Given the description of an element on the screen output the (x, y) to click on. 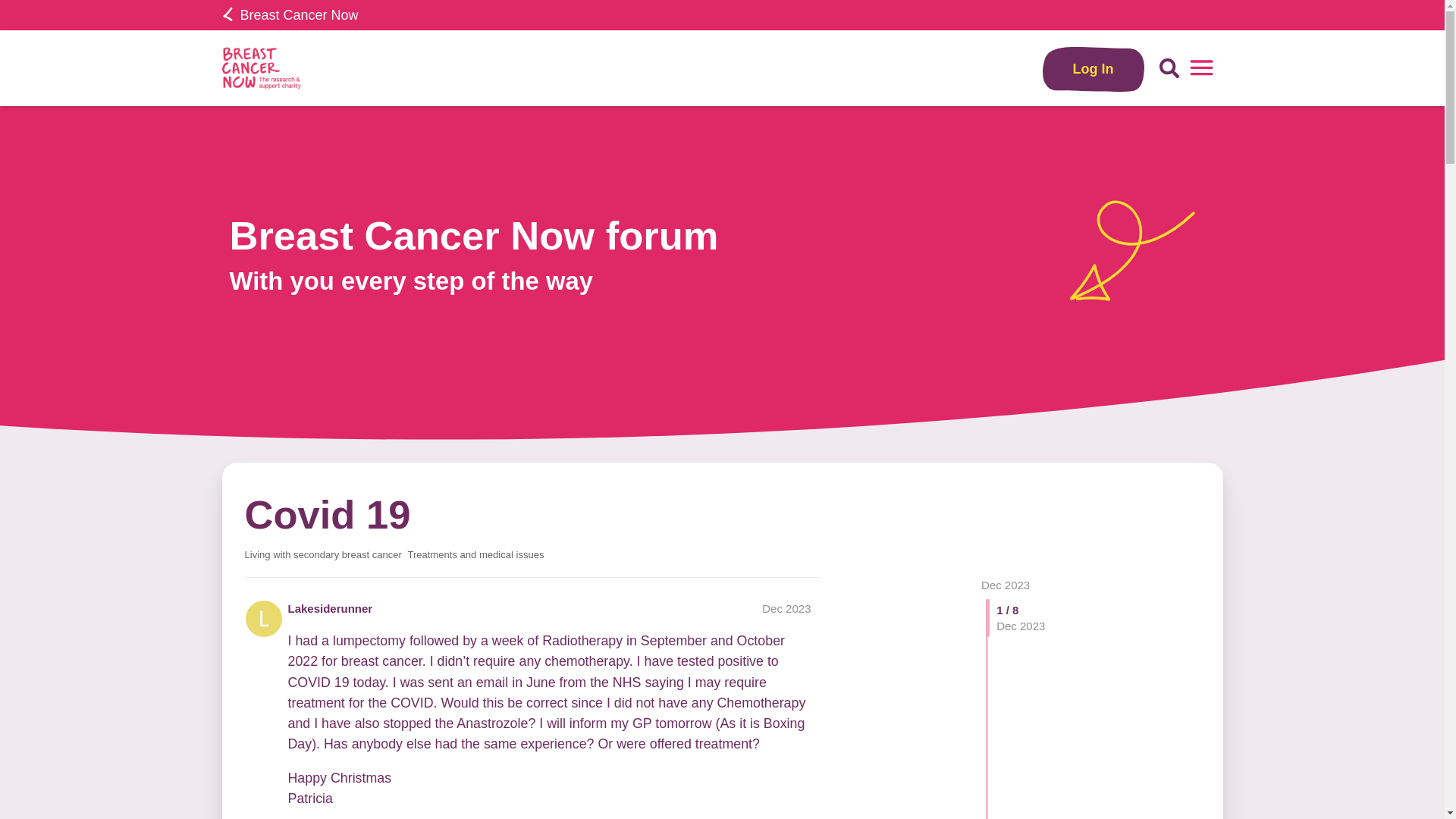
Dec 2023 (1005, 584)
Breast Cancer Now (289, 15)
Dec 2023 (785, 608)
Treatments and medical issues (475, 554)
Lakesiderunner (330, 608)
Covid 19 (327, 514)
Search (1169, 68)
Post date (785, 608)
Living with secondary breast cancer (322, 554)
menu (1201, 67)
